Given the description of an element on the screen output the (x, y) to click on. 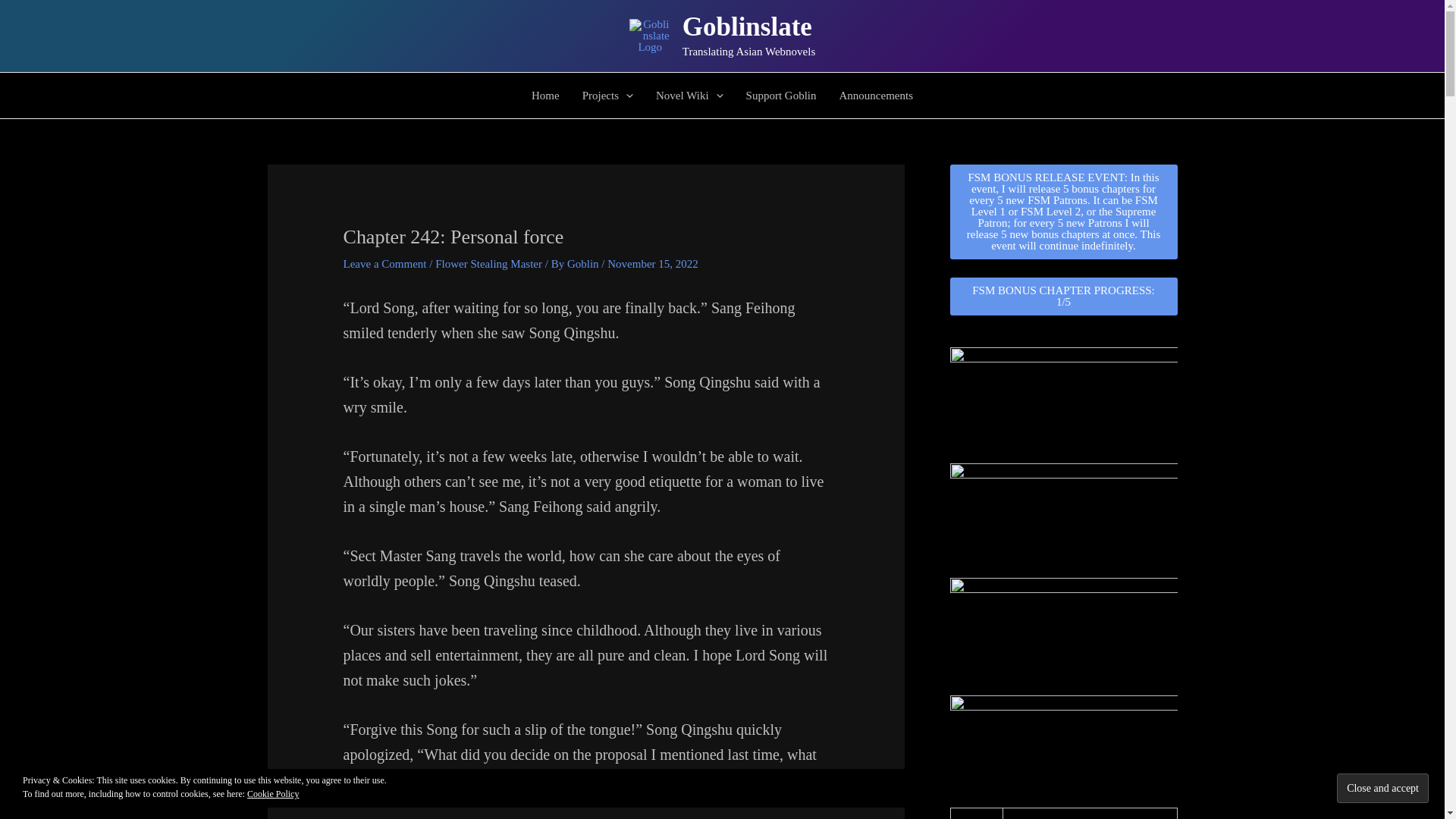
View all posts by Goblin (584, 263)
Support Goblin (781, 94)
Novel Wiki (690, 94)
Goblinslate (747, 26)
Projects (607, 94)
Close and accept (1382, 788)
Home (544, 94)
Announcements (875, 94)
